Given the description of an element on the screen output the (x, y) to click on. 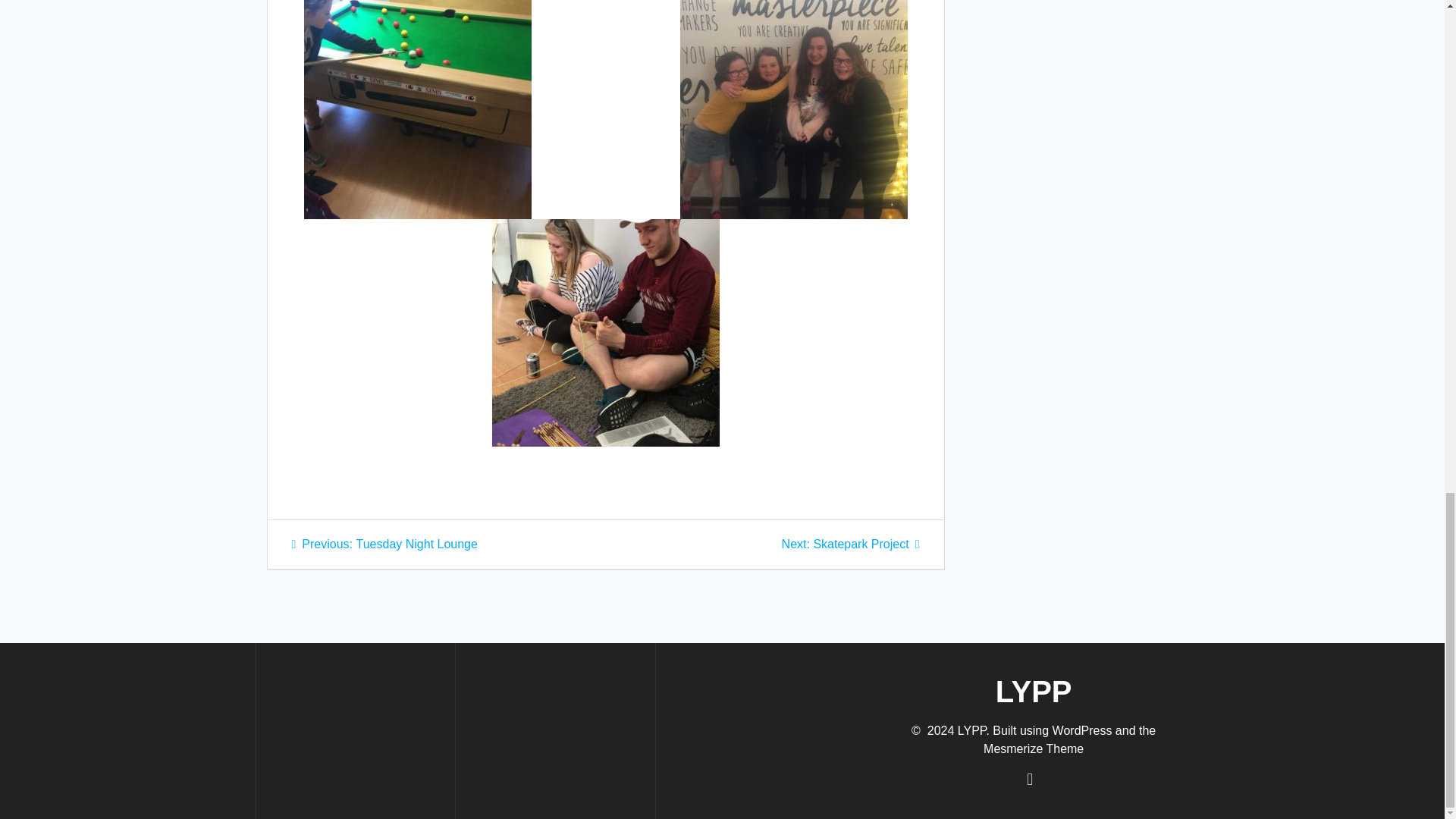
Mesmerize Theme (850, 543)
